Given the description of an element on the screen output the (x, y) to click on. 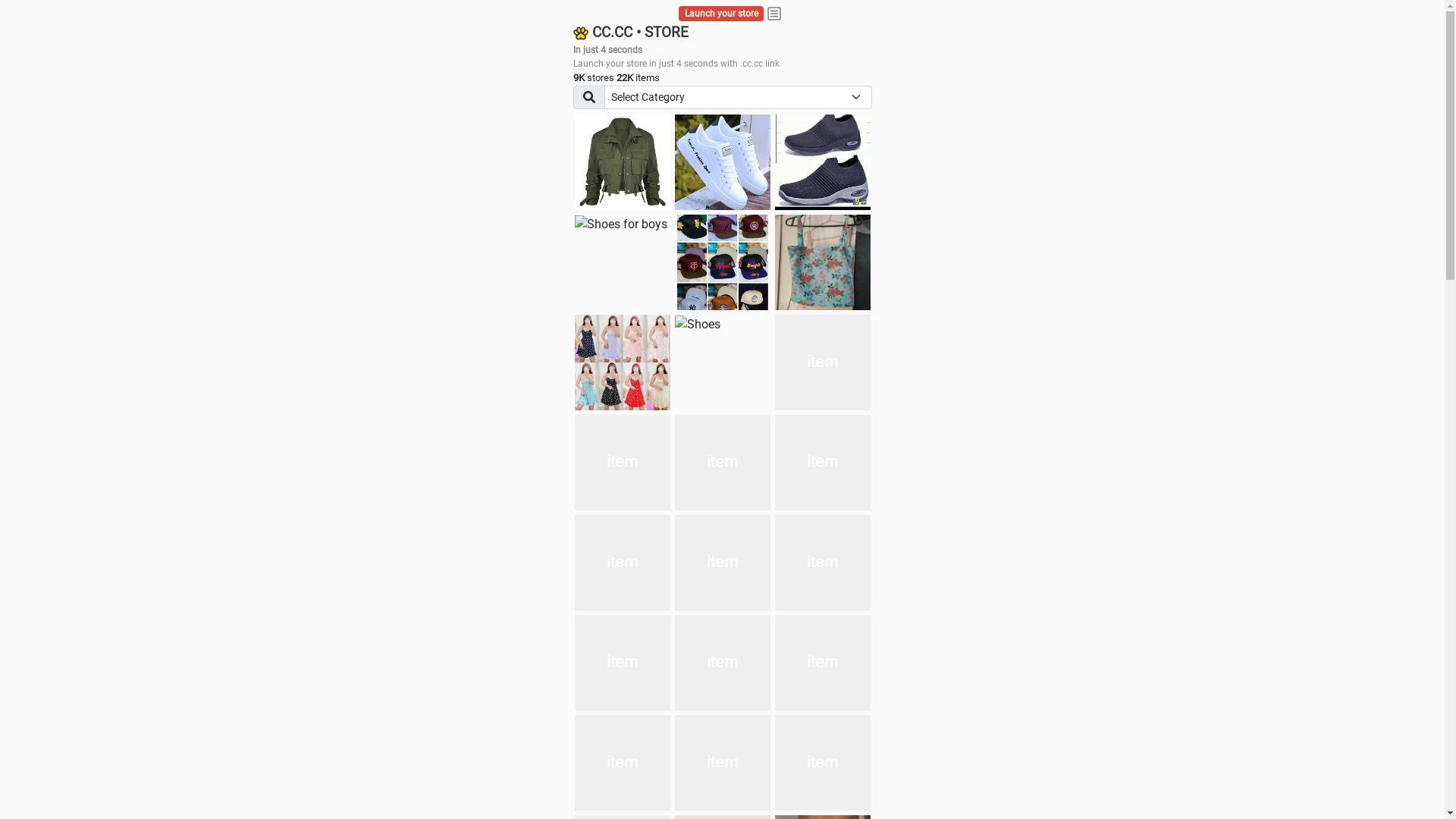
Shoe Element type: hover (822, 762)
Pant Element type: hover (622, 662)
Pant Element type: hover (722, 762)
Zapatillas Element type: hover (722, 462)
Pant Element type: hover (622, 562)
Pant Element type: hover (622, 762)
Zapatillas pumas Element type: hover (622, 462)
Launch your store Element type: text (721, 13)
Pant Element type: hover (822, 562)
shoes for boys Element type: hover (822, 162)
Ukay cloth Element type: hover (822, 262)
jacket Element type: hover (622, 162)
white shoes Element type: hover (722, 162)
Shoes for boys Element type: hover (620, 224)
Pant Element type: hover (722, 662)
Shoes Element type: hover (697, 324)
Dress/square nect top Element type: hover (622, 362)
Short pant Element type: hover (822, 462)
Things we need Element type: hover (722, 262)
Pant Element type: hover (722, 562)
Pant Element type: hover (822, 662)
